Given the description of an element on the screen output the (x, y) to click on. 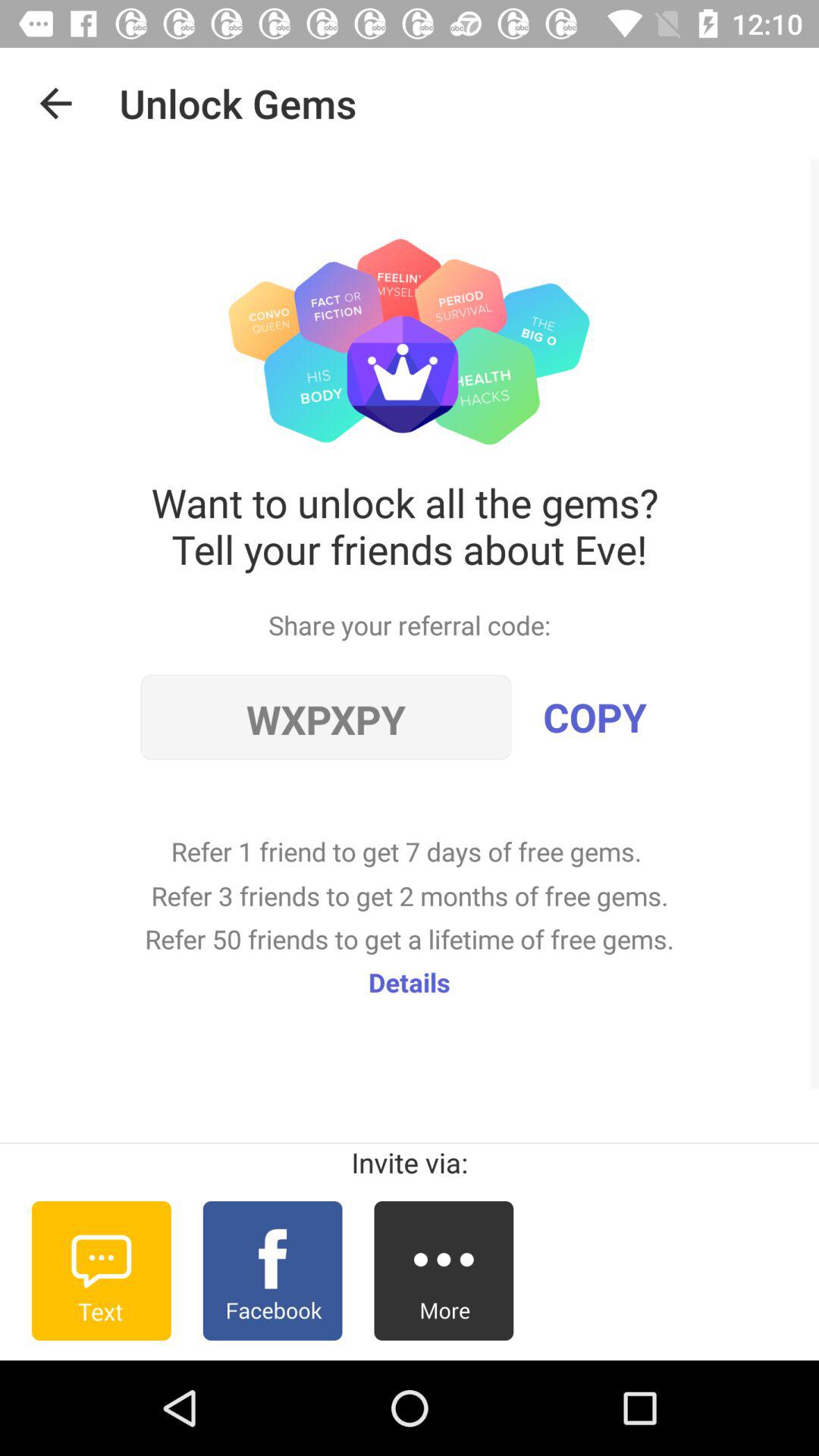
invite via facebook (272, 1270)
